Given the description of an element on the screen output the (x, y) to click on. 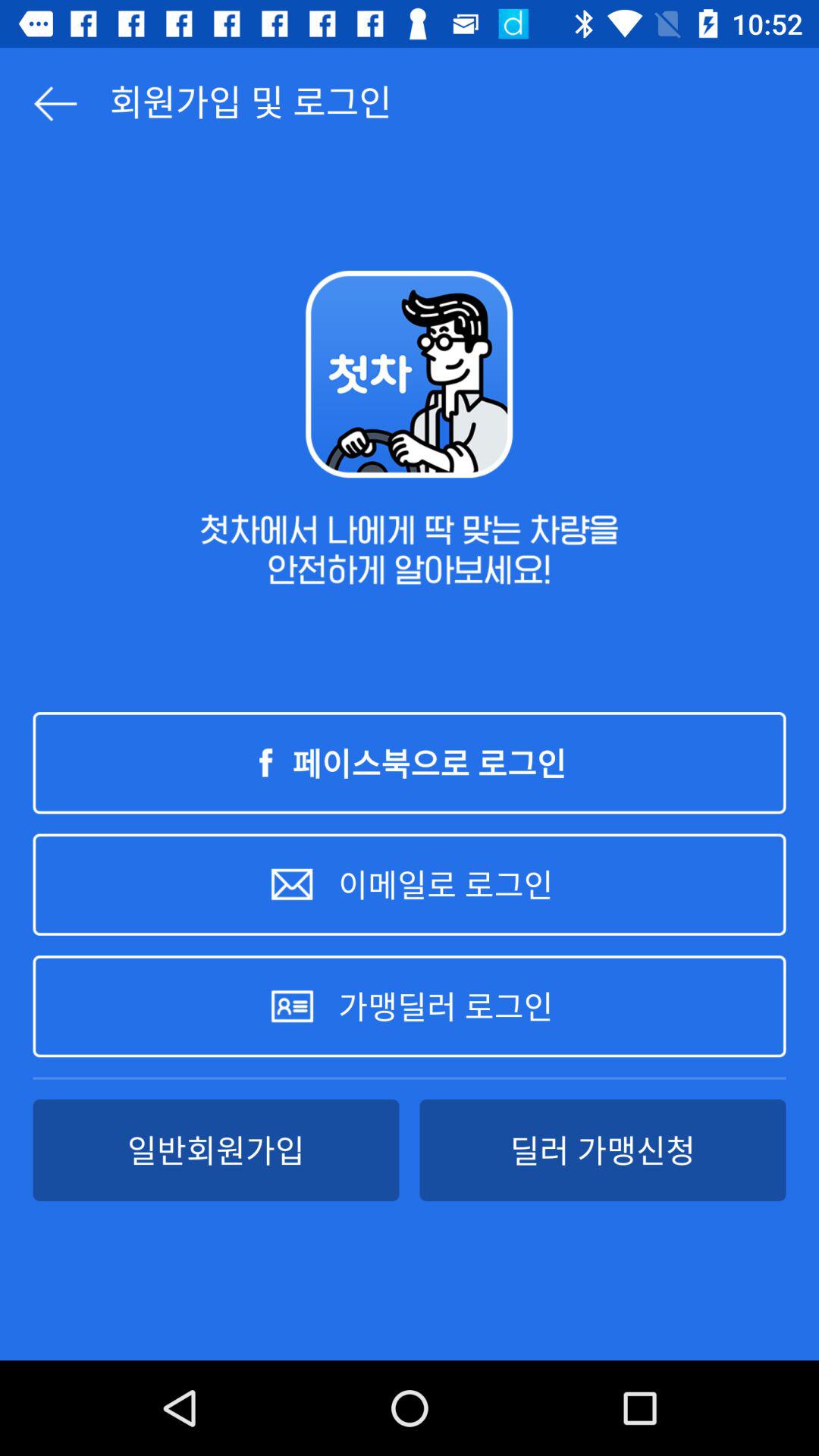
turn off item at the bottom left corner (215, 1150)
